Given the description of an element on the screen output the (x, y) to click on. 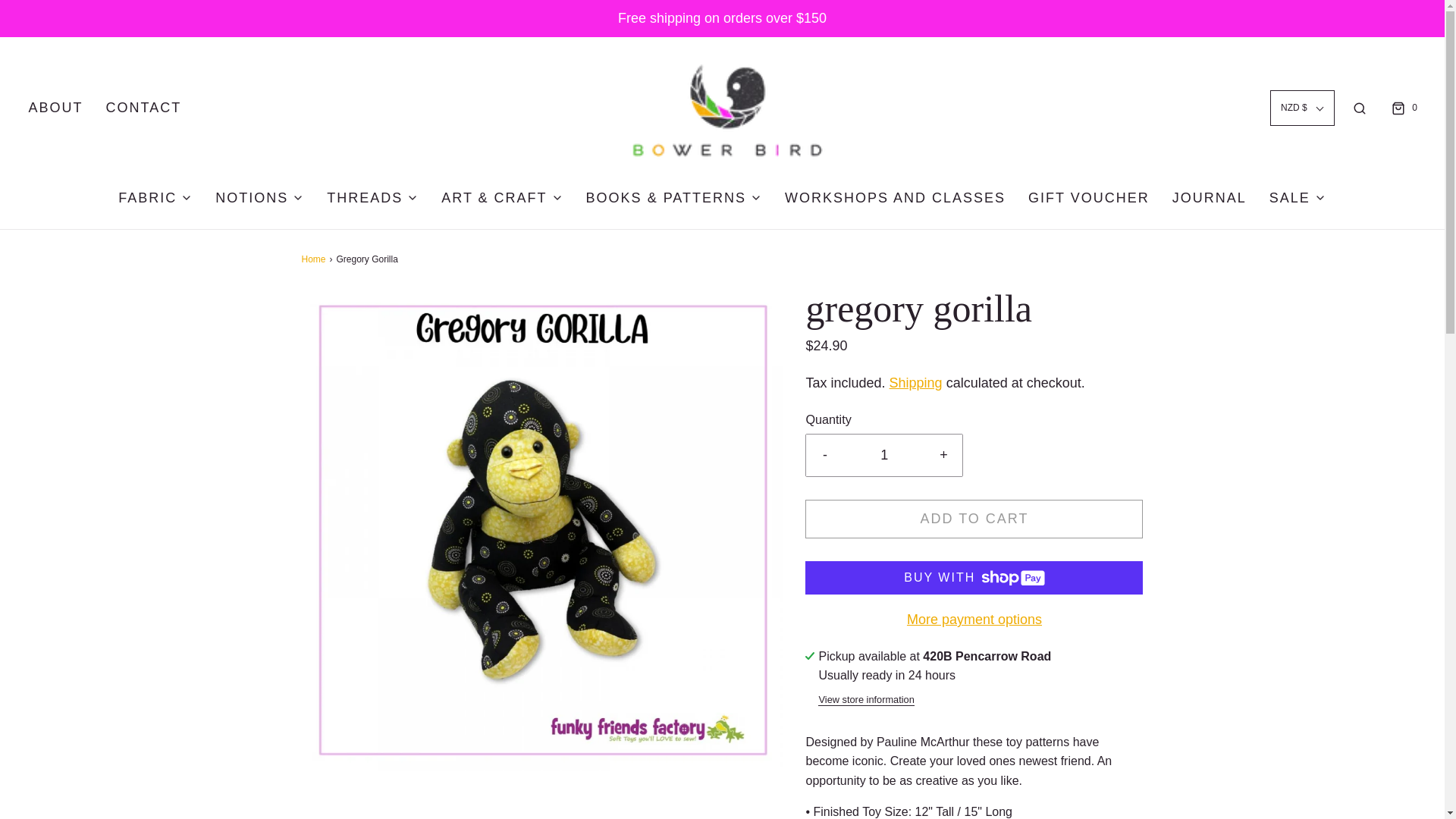
1 (884, 454)
Back to the frontpage (315, 259)
Cart (1403, 107)
Search (1359, 107)
